Given the description of an element on the screen output the (x, y) to click on. 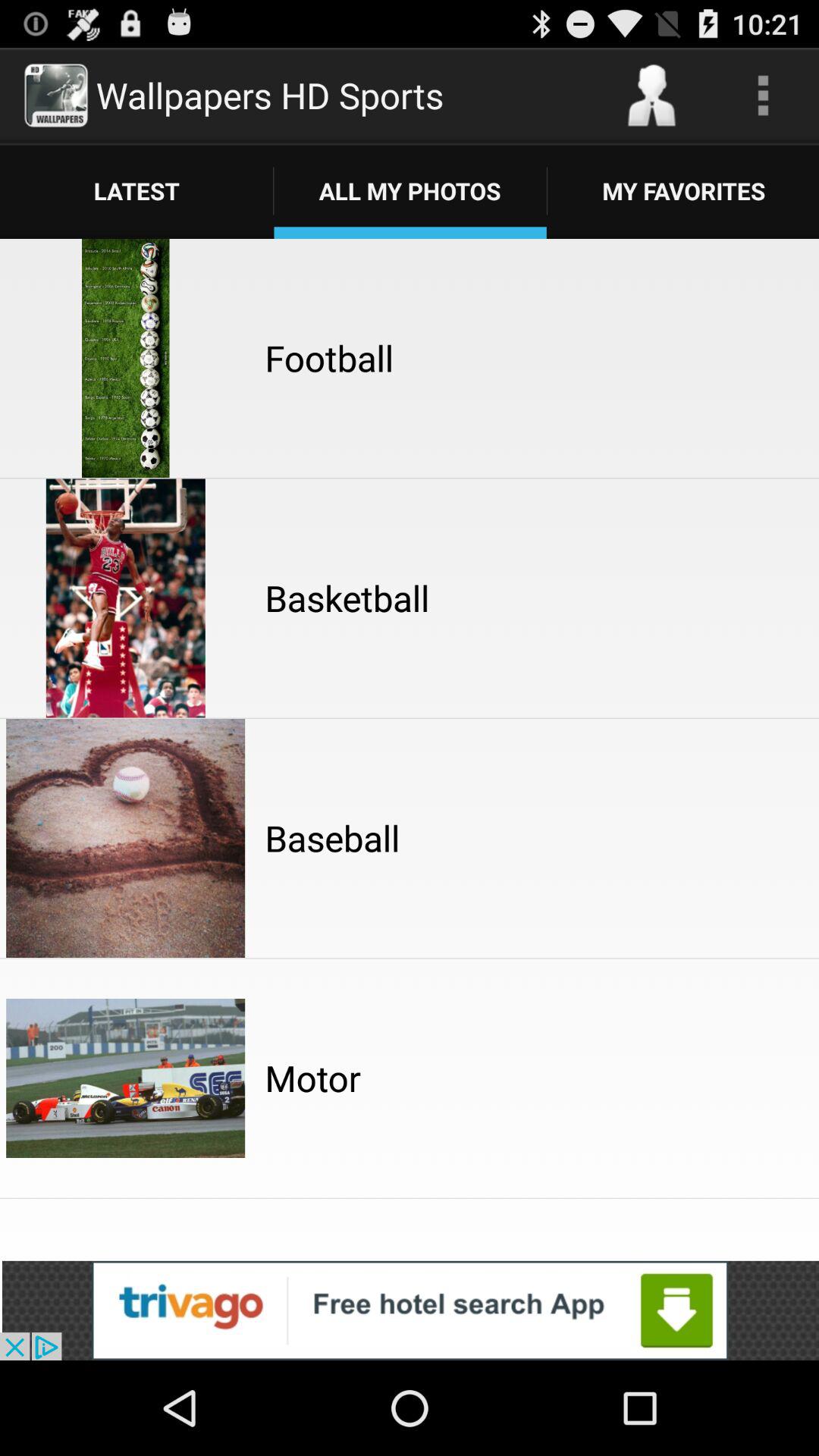
advertisement (409, 1310)
